Given the description of an element on the screen output the (x, y) to click on. 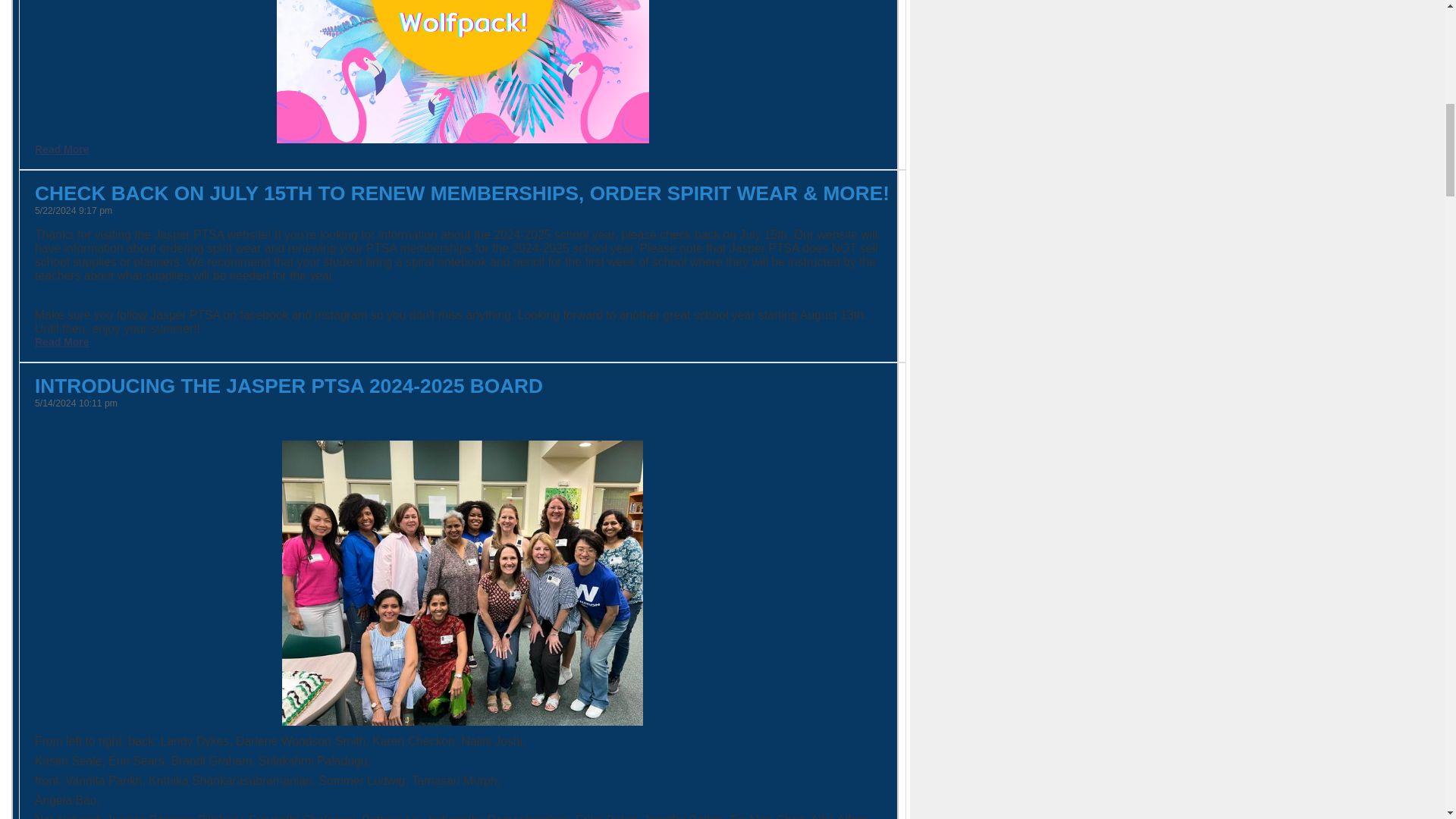
Read More (61, 149)
Read More (61, 341)
